Given the description of an element on the screen output the (x, y) to click on. 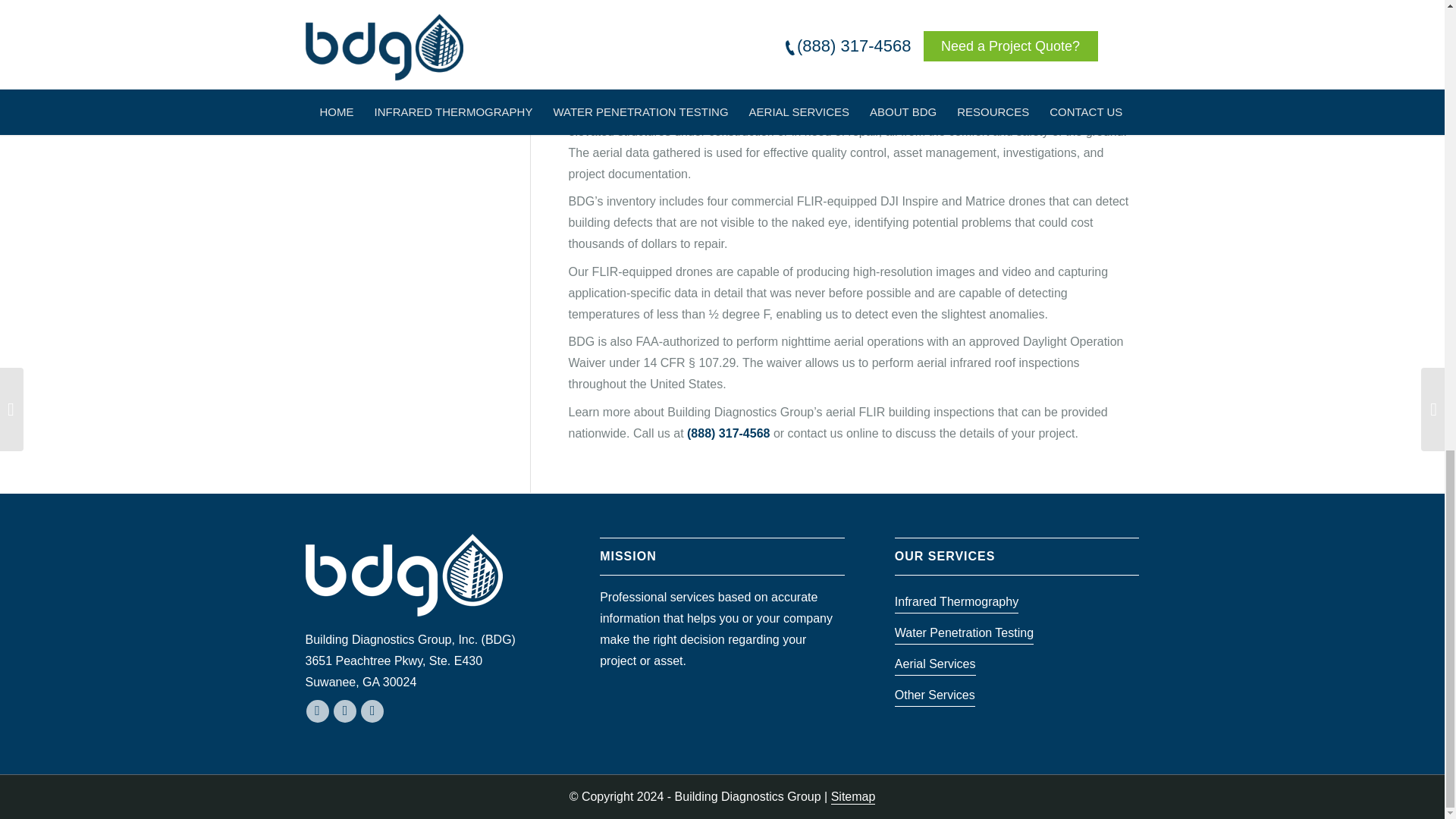
Mail (317, 711)
Twitter (372, 711)
Facebook (344, 711)
